Given the description of an element on the screen output the (x, y) to click on. 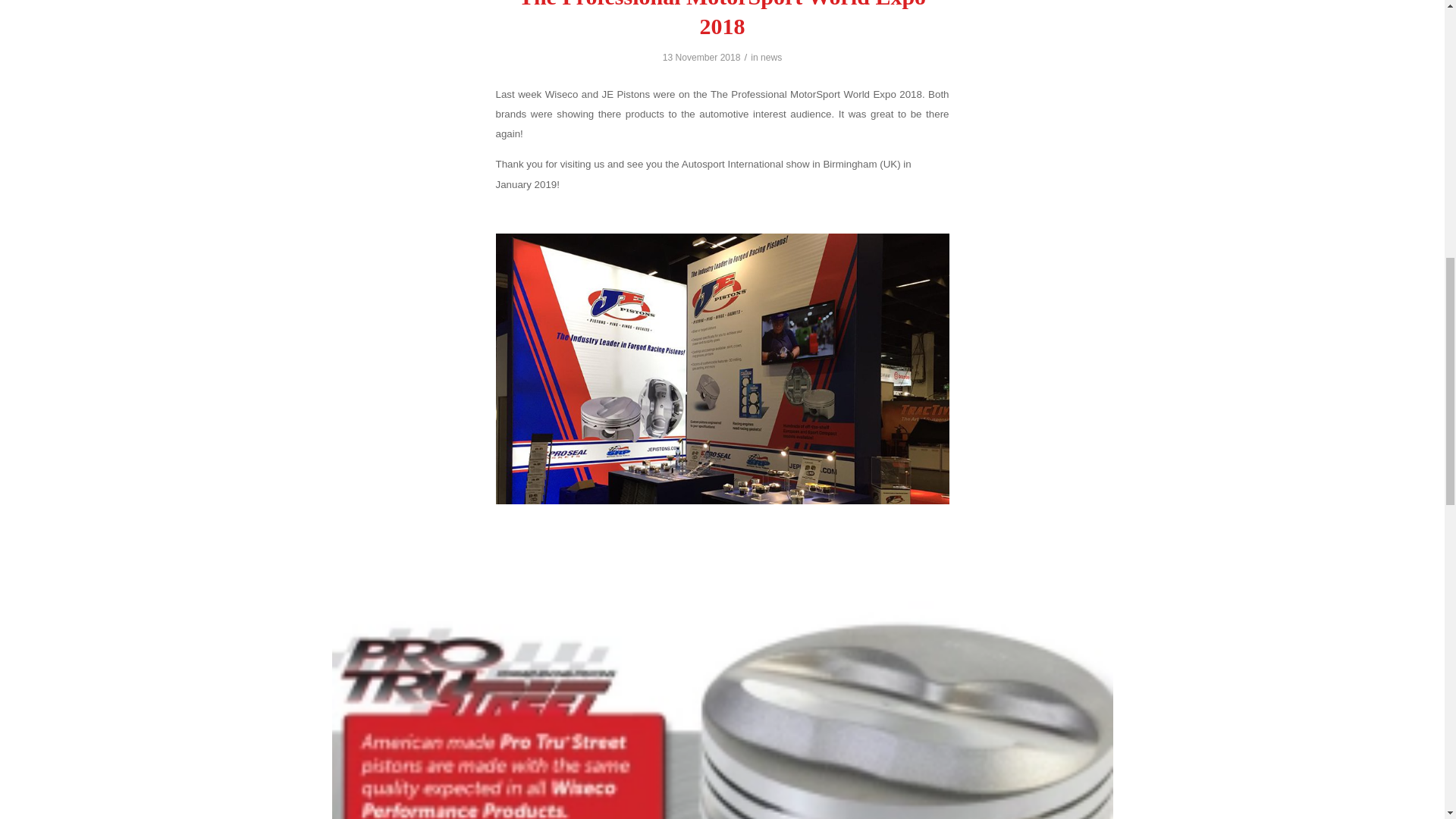
Permanent Link: The Professional MotorSport World Expo 2018 (722, 19)
